Given the description of an element on the screen output the (x, y) to click on. 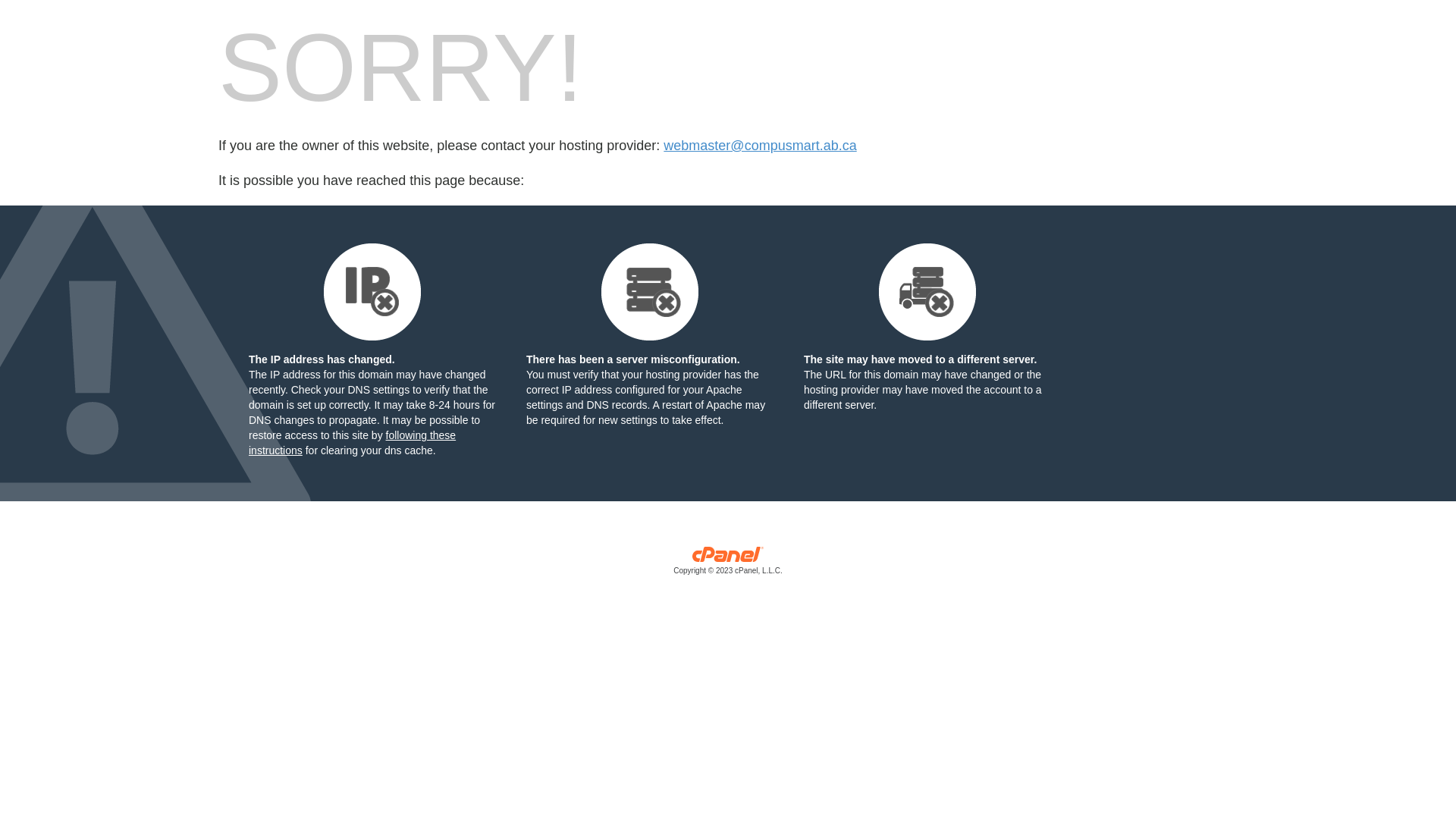
following these instructions Element type: text (351, 442)
webmaster@compusmart.ab.ca Element type: text (759, 145)
